Given the description of an element on the screen output the (x, y) to click on. 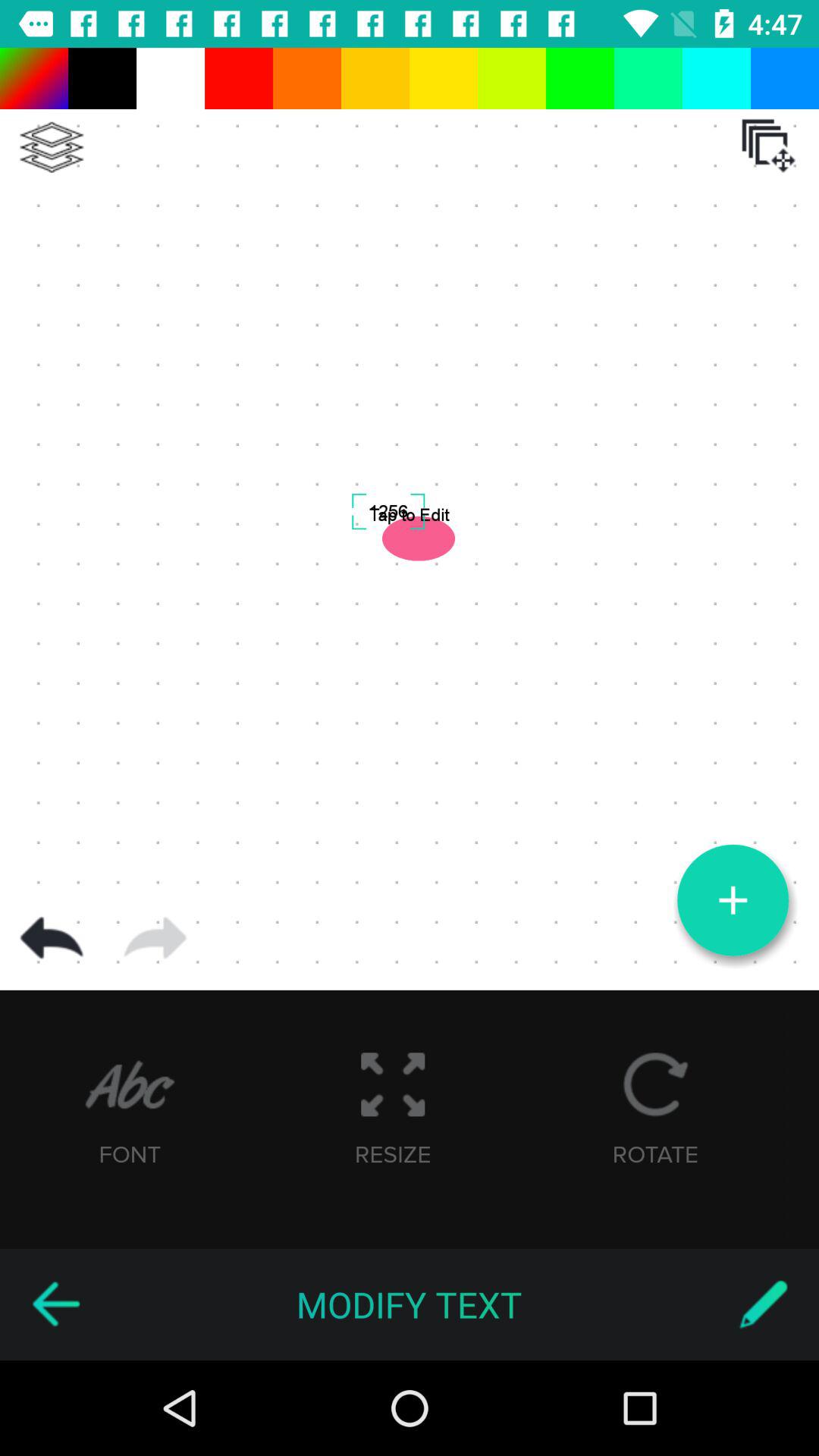
turn on icon next to modify text item (55, 1304)
